Given the description of an element on the screen output the (x, y) to click on. 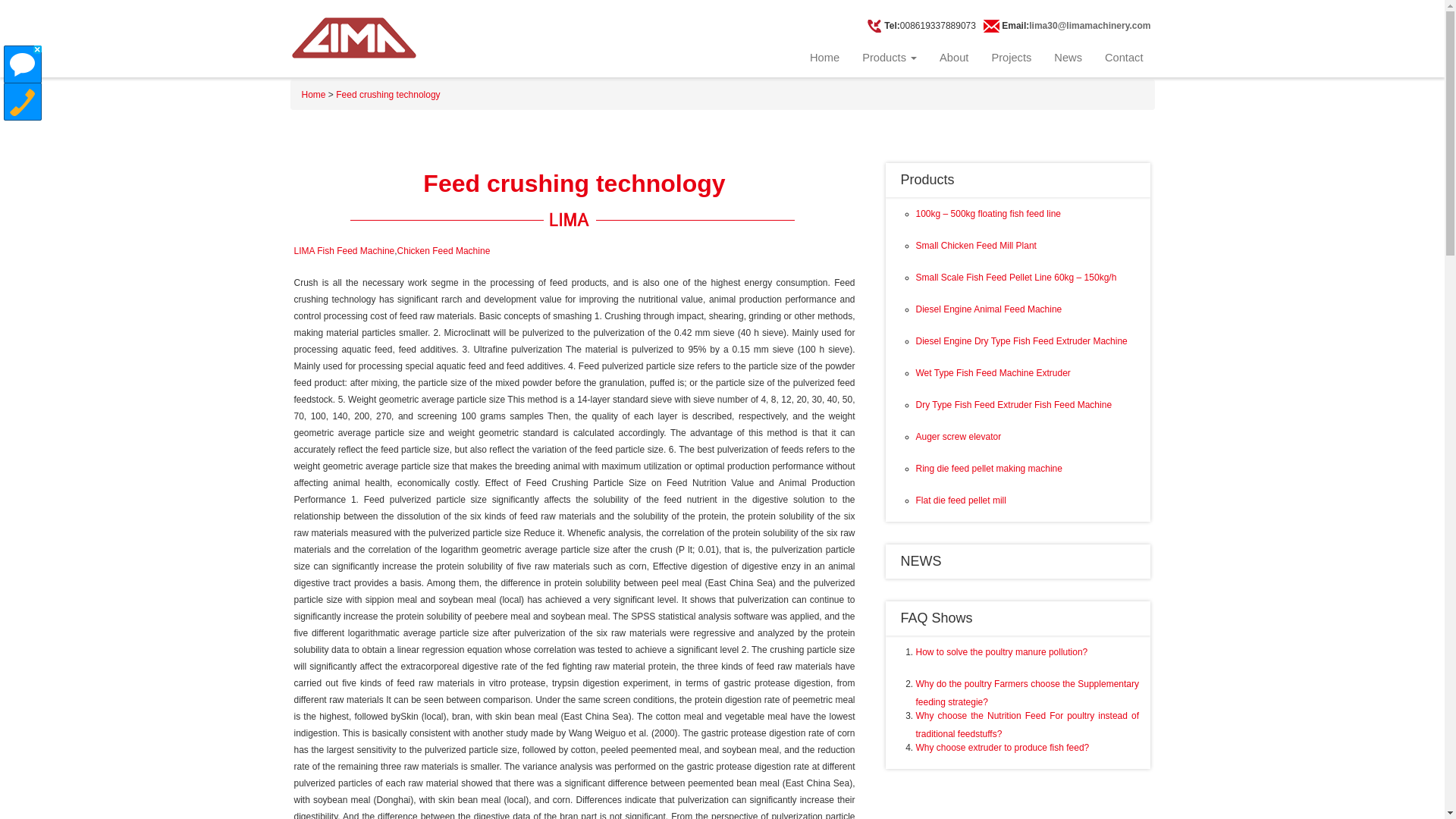
Products (889, 57)
Chicken Feed Machine (443, 250)
Home (823, 57)
Products (928, 179)
News (1067, 57)
Diesel Engine Dry Type Fish Feed Extruder Machine (1020, 340)
FAQ Shows (936, 617)
Projects (1010, 57)
Small Chicken Feed Mill Plant (975, 245)
Feed crushing technology (387, 94)
Flat die feed pellet mill (960, 500)
Diesel Engine Animal Feed Machine (988, 308)
Contact (1123, 57)
